Given the description of an element on the screen output the (x, y) to click on. 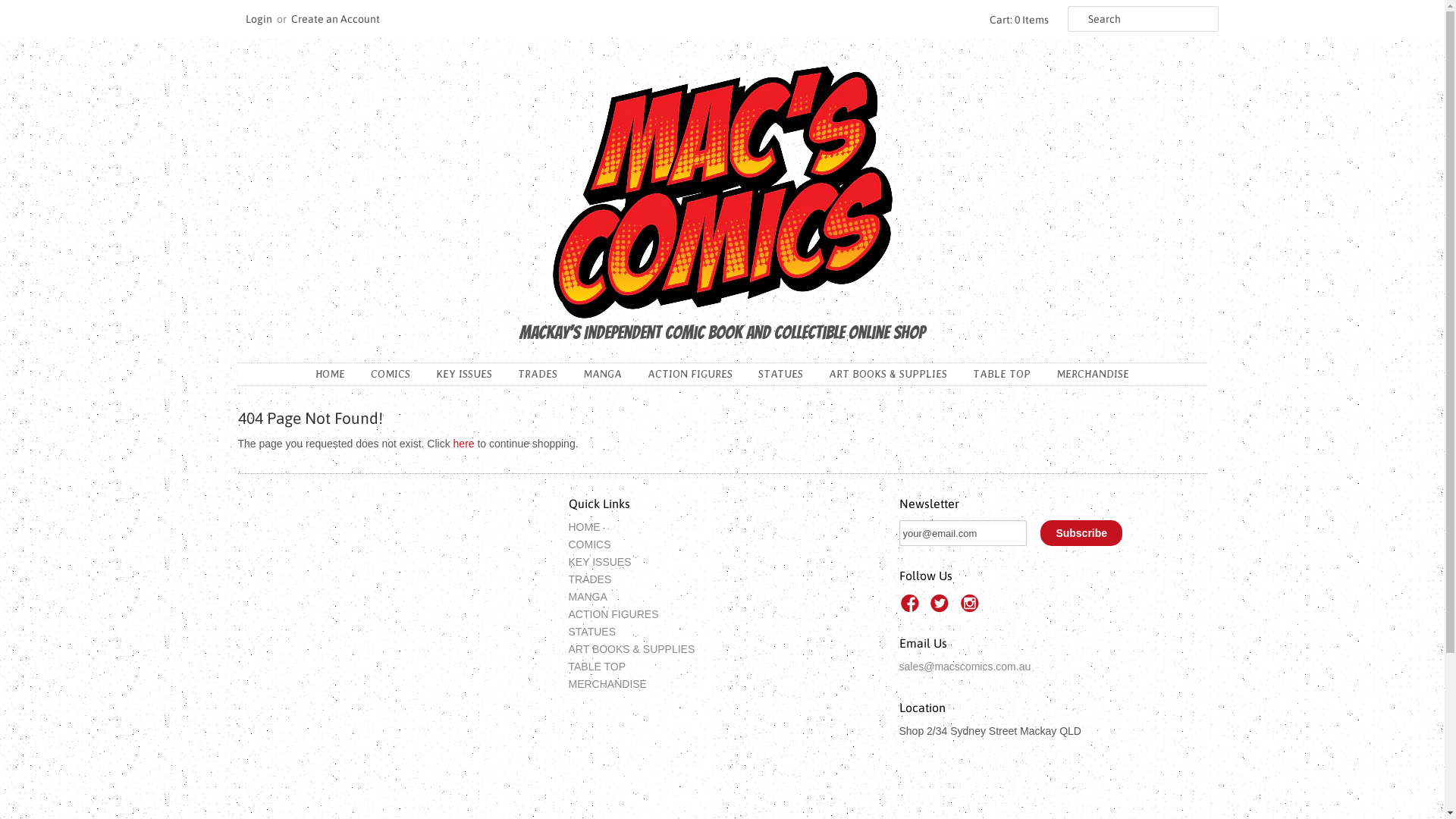
HOME Element type: text (584, 526)
Follow us on Twitter! Element type: hover (941, 607)
TABLE TOP Element type: text (1001, 373)
MERCHANDISE Element type: text (607, 683)
TRADES Element type: text (537, 373)
Follow us on Facebook! Element type: hover (911, 607)
TABLE TOP Element type: text (596, 666)
STATUES Element type: text (780, 373)
MANGA Element type: text (602, 373)
COMICS Element type: text (390, 373)
sales@macscomics.com.au Element type: text (965, 666)
KEY ISSUES Element type: text (463, 373)
ACTION FIGURES Element type: text (613, 614)
Cart: 0 Items Element type: text (1016, 19)
MANGA Element type: text (587, 596)
Create an Account Element type: text (335, 18)
COMICS Element type: text (589, 544)
STATUES Element type: text (592, 631)
Login Element type: text (258, 18)
KEY ISSUES Element type: text (599, 561)
ART BOOKS & SUPPLIES Element type: text (887, 373)
ART BOOKS & SUPPLIES Element type: text (631, 649)
Subscribe Element type: text (1081, 533)
Follow us on Instagram! Element type: hover (971, 607)
ACTION FIGURES Element type: text (689, 373)
here Element type: text (463, 443)
TRADES Element type: text (589, 579)
MERCHANDISE Element type: text (1092, 373)
HOME Element type: text (330, 373)
